Given the description of an element on the screen output the (x, y) to click on. 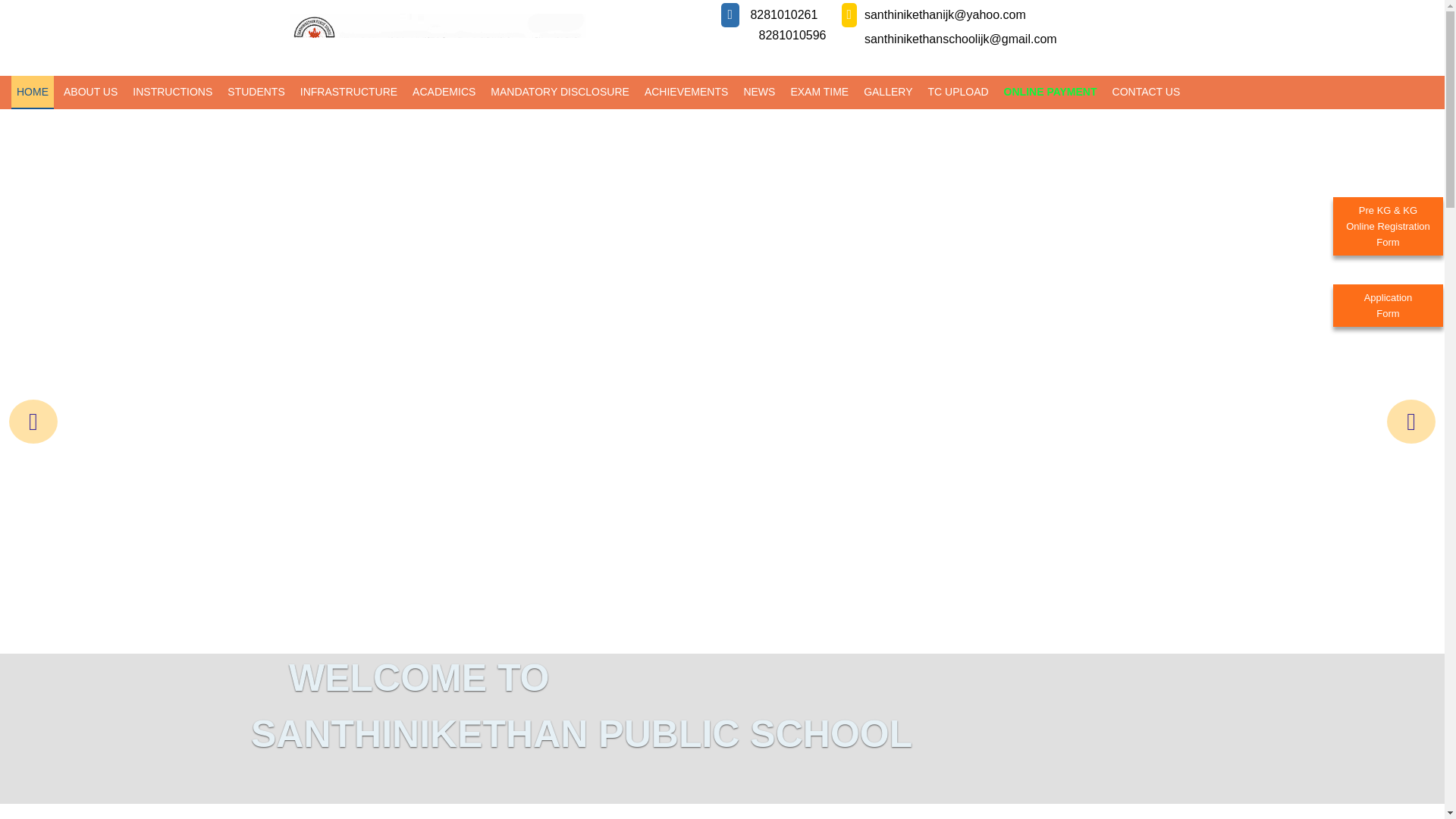
STUDENTS (255, 91)
INSTRUCTIONS (172, 91)
INFRASTRUCTURE (349, 91)
ABOUT US (1387, 305)
ACADEMICS (90, 91)
HOME (443, 91)
